Given the description of an element on the screen output the (x, y) to click on. 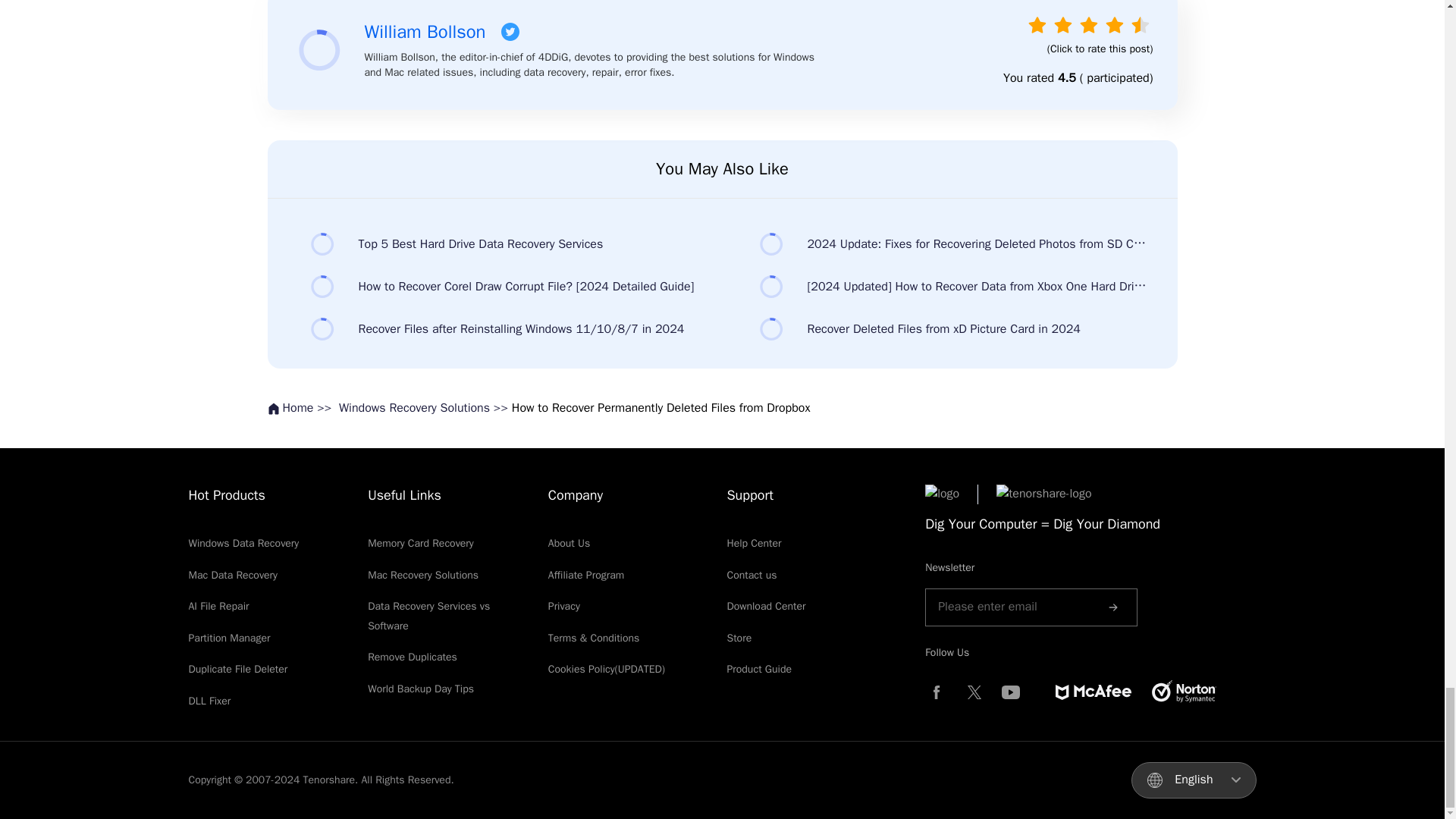
remove duplicate (412, 656)
About Us (568, 543)
Mac Recovery Solutions (423, 574)
Windows Data Recovery (242, 543)
Duplicate File Deleter (236, 668)
Top 5 Best Hard Drive Data Recovery Services (497, 244)
memory card recovery (421, 543)
World Backup Day (421, 688)
Recover Deleted Files from xD Picture Card in 2024 (946, 328)
4DDiG Partition Manager (228, 637)
AI File Repair (217, 605)
Mac Data Recovery (231, 574)
DLL Fixer (208, 700)
Affiliate Program (586, 574)
